Given the description of an element on the screen output the (x, y) to click on. 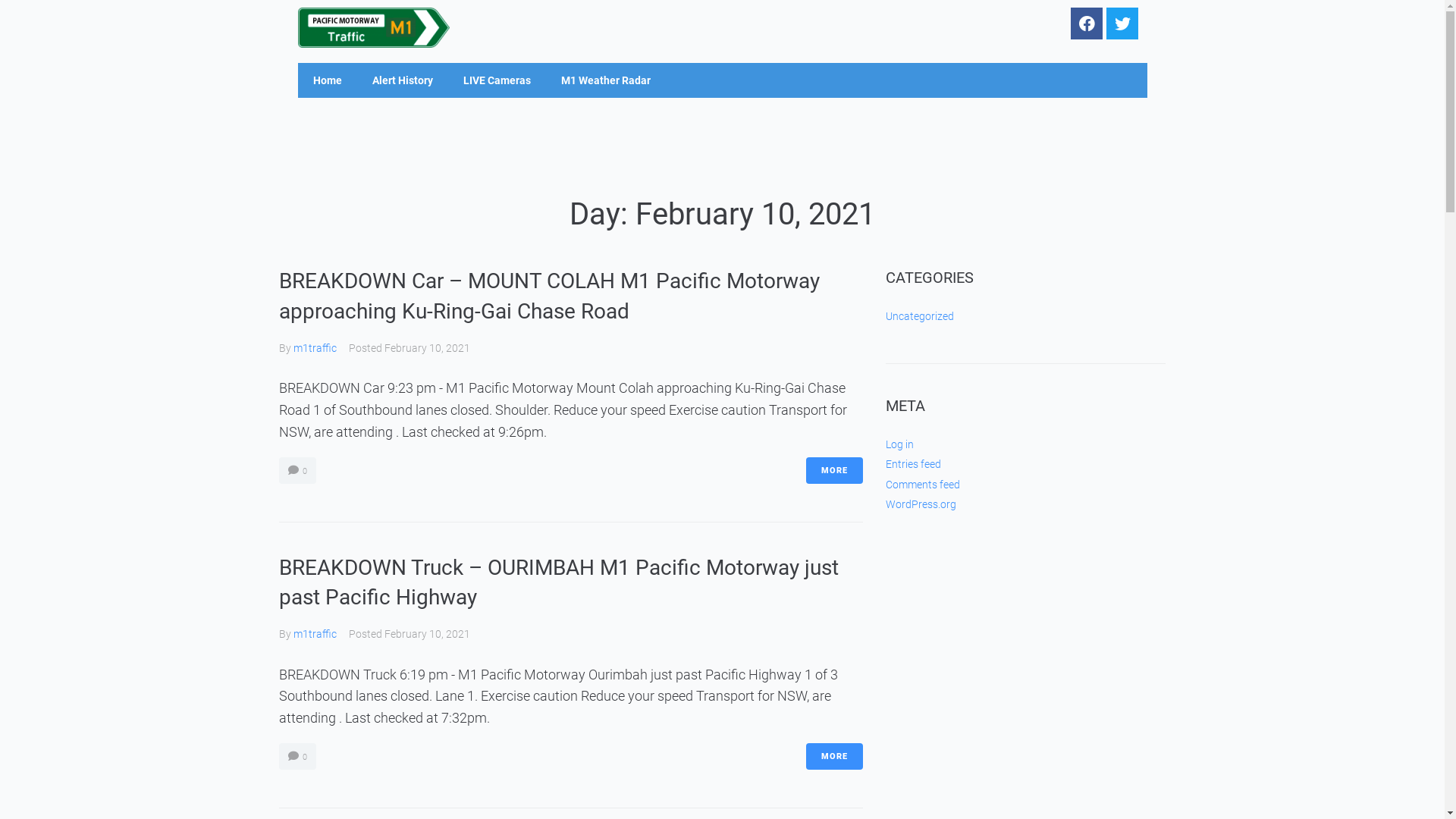
Comments feed Element type: text (922, 484)
Home Element type: text (326, 79)
Uncategorized Element type: text (919, 316)
0 Element type: text (297, 756)
Log in Element type: text (899, 444)
LIVE Cameras Element type: text (496, 79)
MORE Element type: text (833, 756)
Entries feed Element type: text (913, 464)
MORE Element type: text (833, 470)
m1traffic Element type: text (313, 348)
Advertisement Element type: hover (721, 146)
0 Element type: text (297, 470)
Alert History Element type: text (401, 79)
M1 Weather Radar Element type: text (605, 79)
WordPress.org Element type: text (920, 504)
m1traffic Element type: text (313, 633)
